Given the description of an element on the screen output the (x, y) to click on. 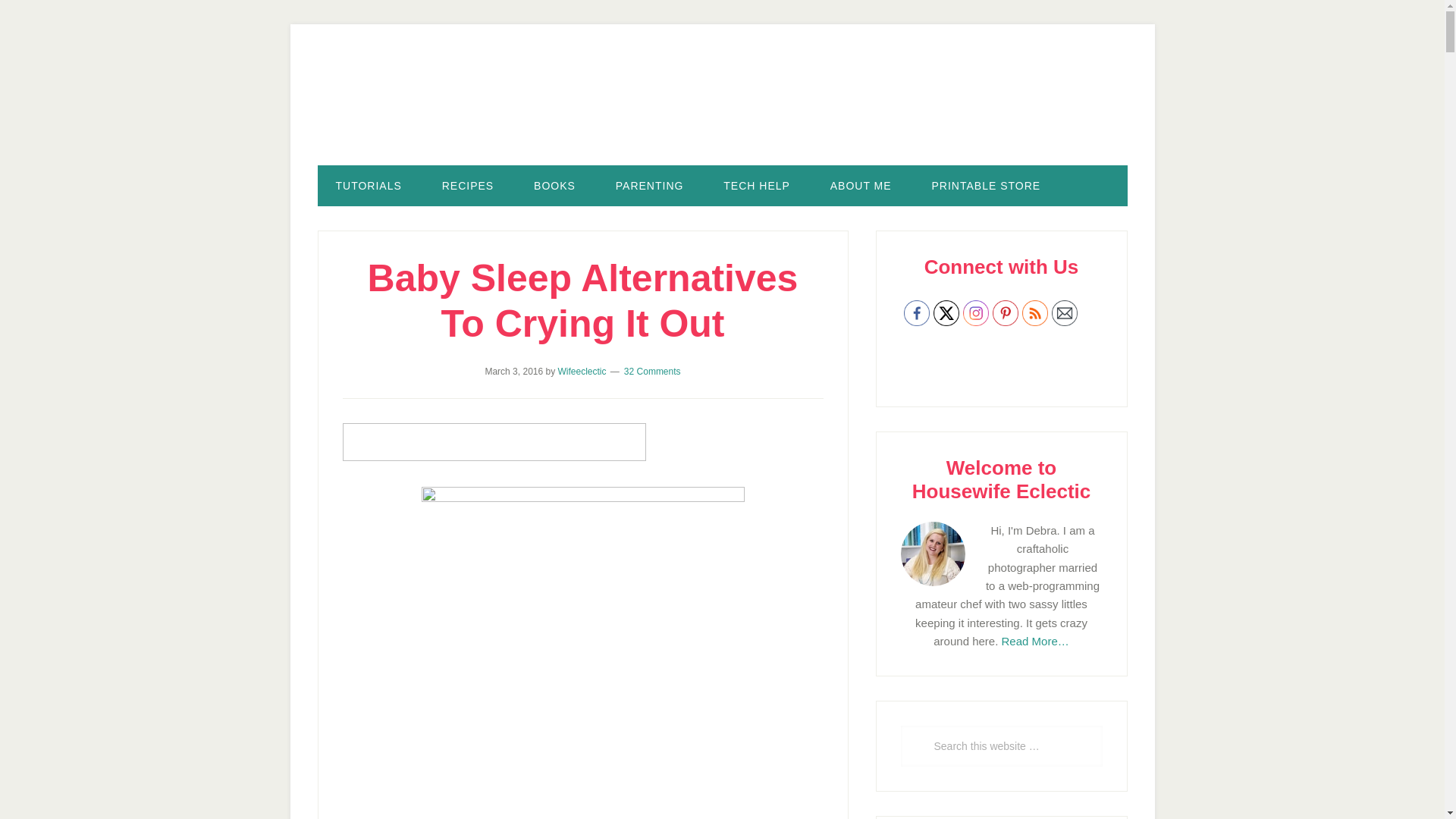
PARENTING (648, 185)
Facebook (917, 312)
32 Comments (652, 371)
Housewife Eclectic (721, 107)
BOOKS (554, 185)
RECIPES (467, 185)
PRINTABLE STORE (986, 185)
TECH HELP (756, 185)
Instagram (975, 312)
